Given the description of an element on the screen output the (x, y) to click on. 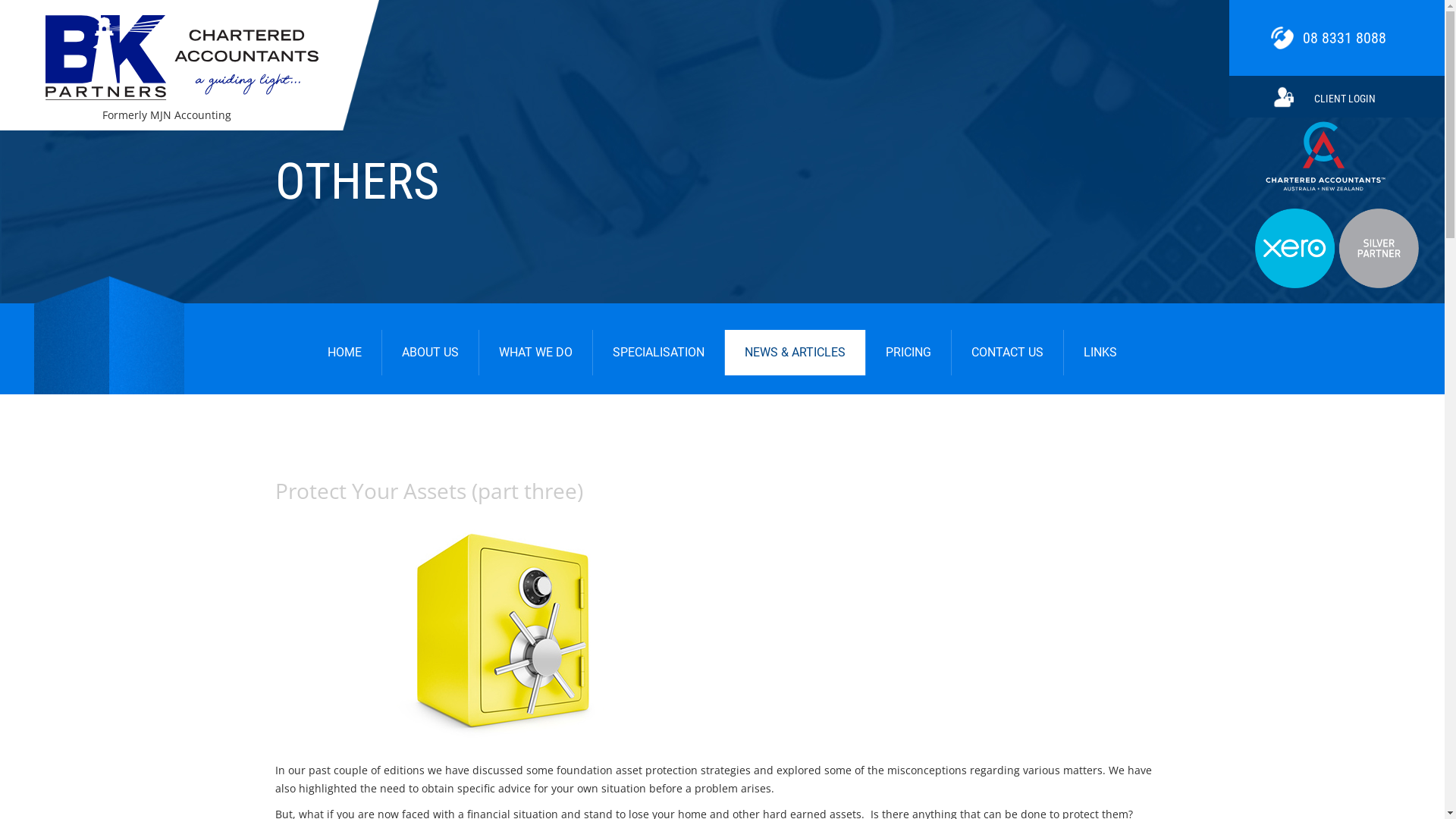
WHAT WE DO Element type: text (535, 352)
SPECIALISATION Element type: text (658, 352)
CONTACT US Element type: text (1007, 352)
NEWS & ARTICLES Element type: text (794, 352)
ABOUT US Element type: text (430, 352)
HOME Element type: text (344, 352)
LINKS Element type: text (1099, 352)
08 8331 8088 Element type: text (1336, 37)
PRICING Element type: text (908, 352)
CLIENT LOGIN Element type: text (1336, 96)
